Given the description of an element on the screen output the (x, y) to click on. 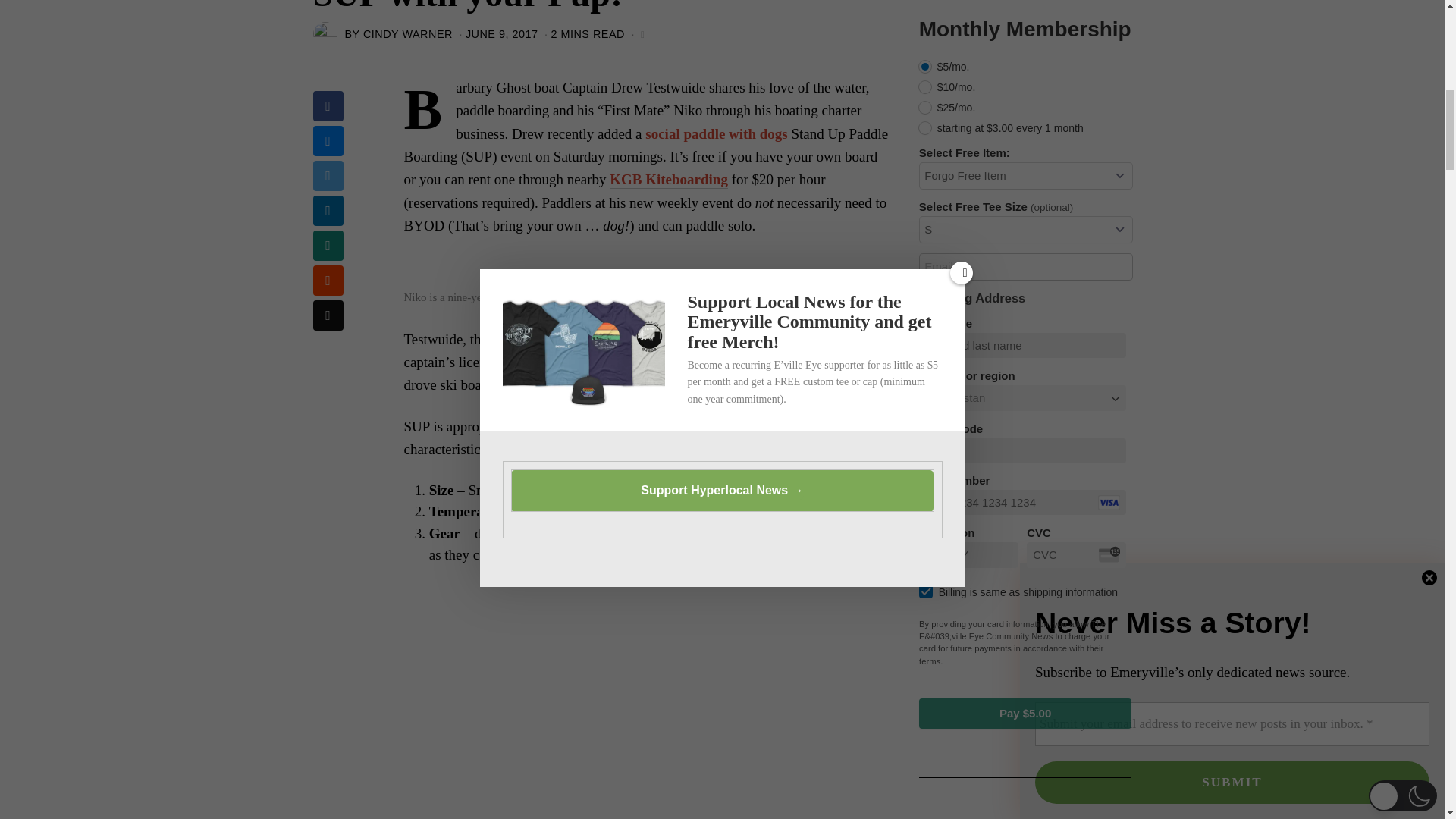
make-a-recurring-monthly-payment-1515814258 (924, 107)
make-a-recurring-monthly-payment-1534632379 (924, 66)
KGB Kiteboarding (669, 179)
CINDY WARNER (407, 33)
make-a-recurring-monthly-payment-1502228771 (924, 87)
social paddle with dogs (716, 133)
